Given the description of an element on the screen output the (x, y) to click on. 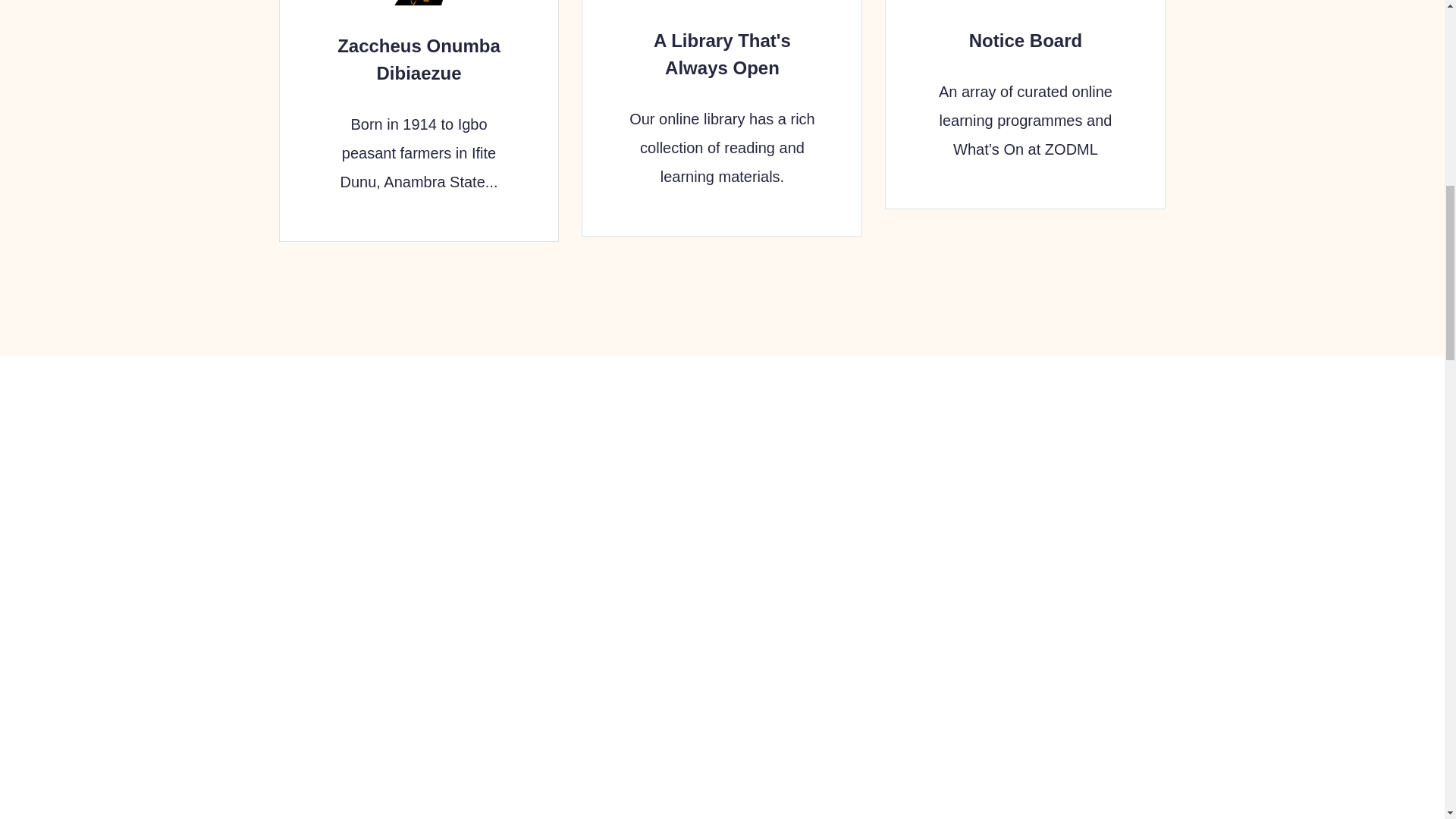
A Library That's Always Open (721, 53)
Notice Board (1025, 40)
Zaccheus Onumba Dibiaezue (418, 59)
